Given the description of an element on the screen output the (x, y) to click on. 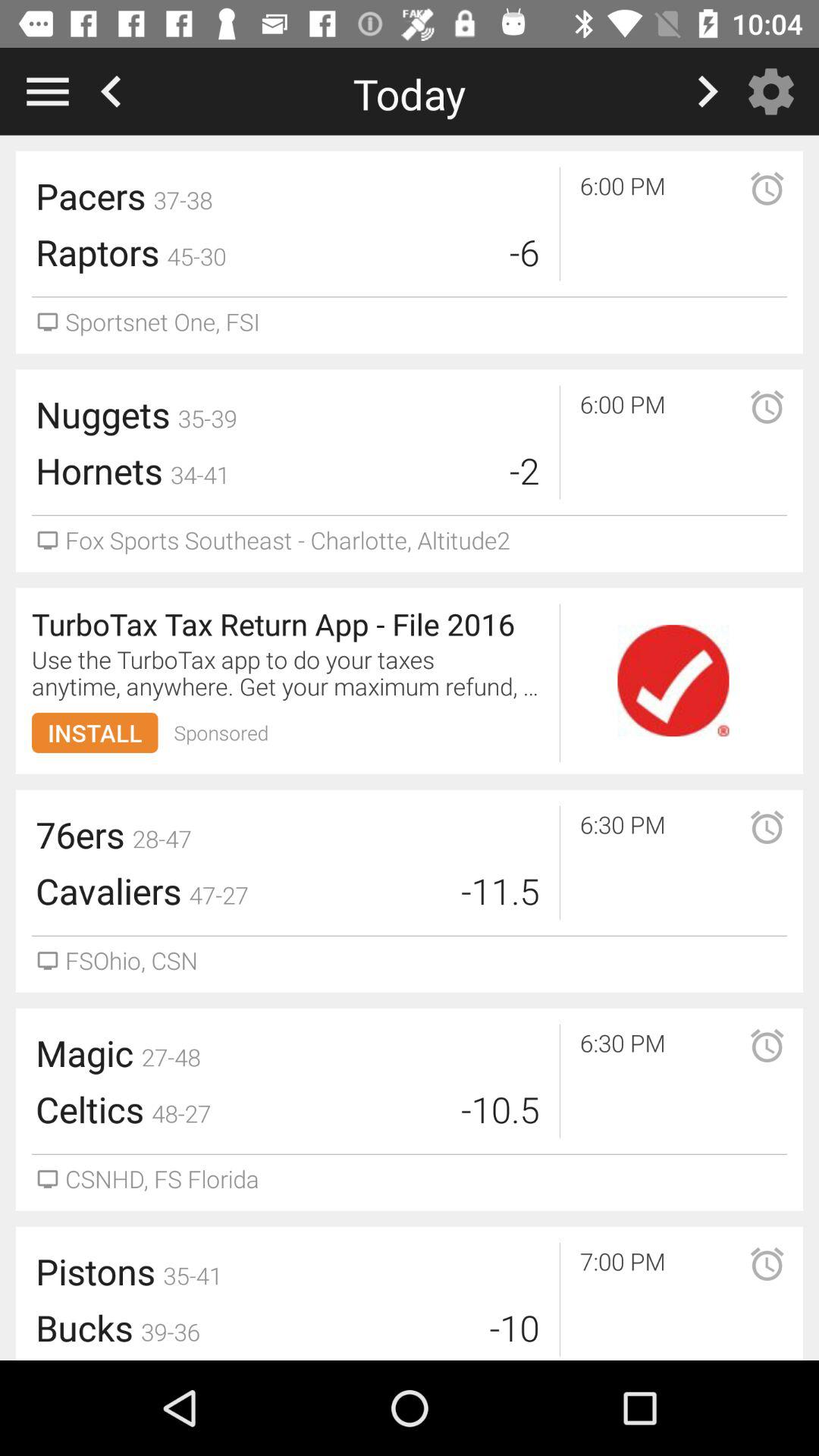
press the icon above the 6:30 pm item (673, 680)
